Given the description of an element on the screen output the (x, y) to click on. 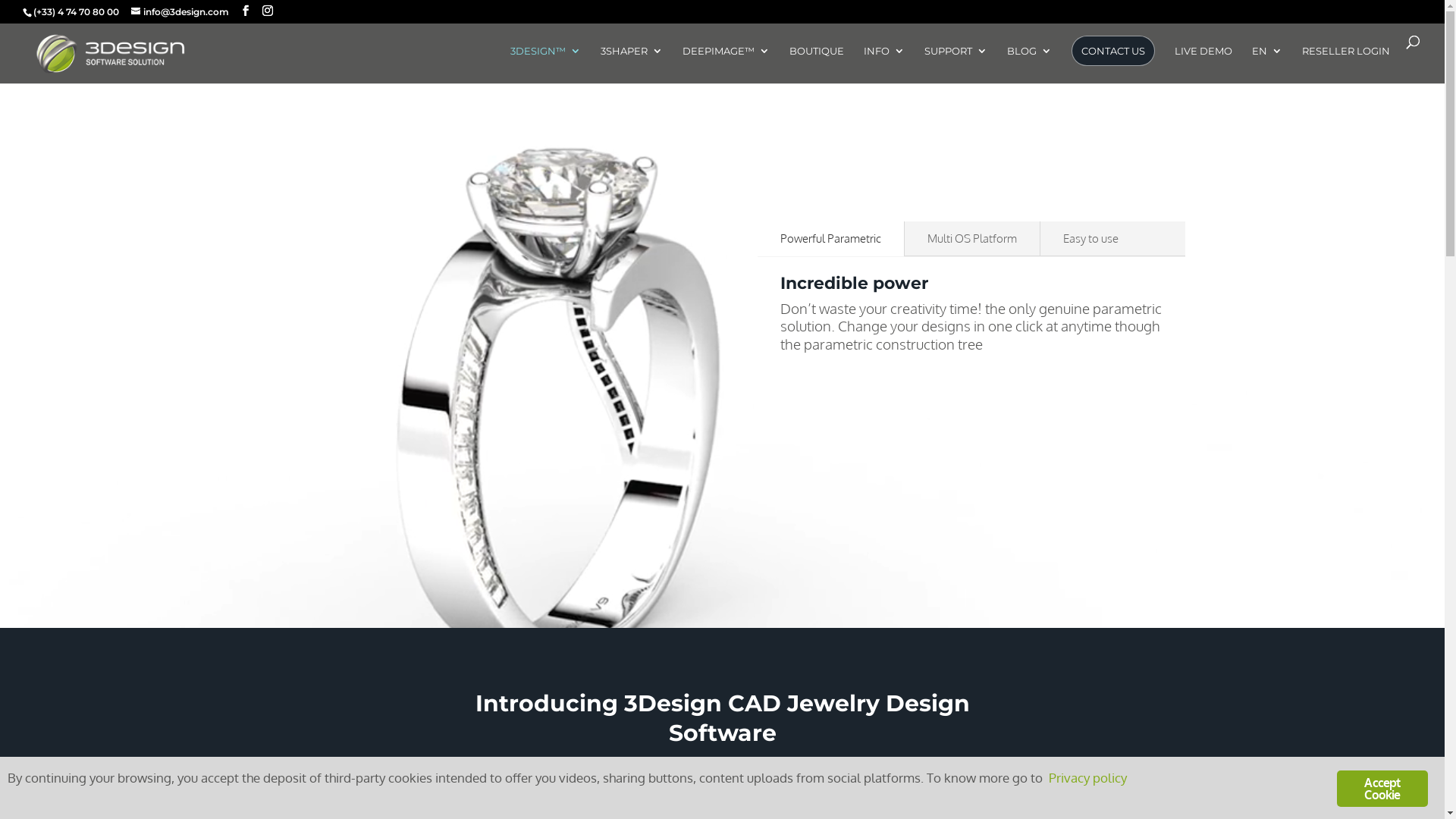
Accept Cookie Element type: text (1381, 788)
Multi OS Platform Element type: text (971, 238)
LIVE DEMO Element type: text (1203, 64)
SUPPORT Element type: text (955, 64)
RESELLER LOGIN Element type: text (1346, 64)
info@3design.com Element type: text (180, 11)
EN Element type: text (1267, 64)
BLOG Element type: text (1029, 64)
Powerful Parametric Element type: text (830, 238)
CONTACT US Element type: text (1112, 50)
Easy to use Element type: text (1090, 238)
Privacy policy Element type: text (1087, 776)
3SHAPER Element type: text (631, 64)
BOUTIQUE Element type: text (816, 64)
INFO Element type: text (883, 64)
